Given the description of an element on the screen output the (x, y) to click on. 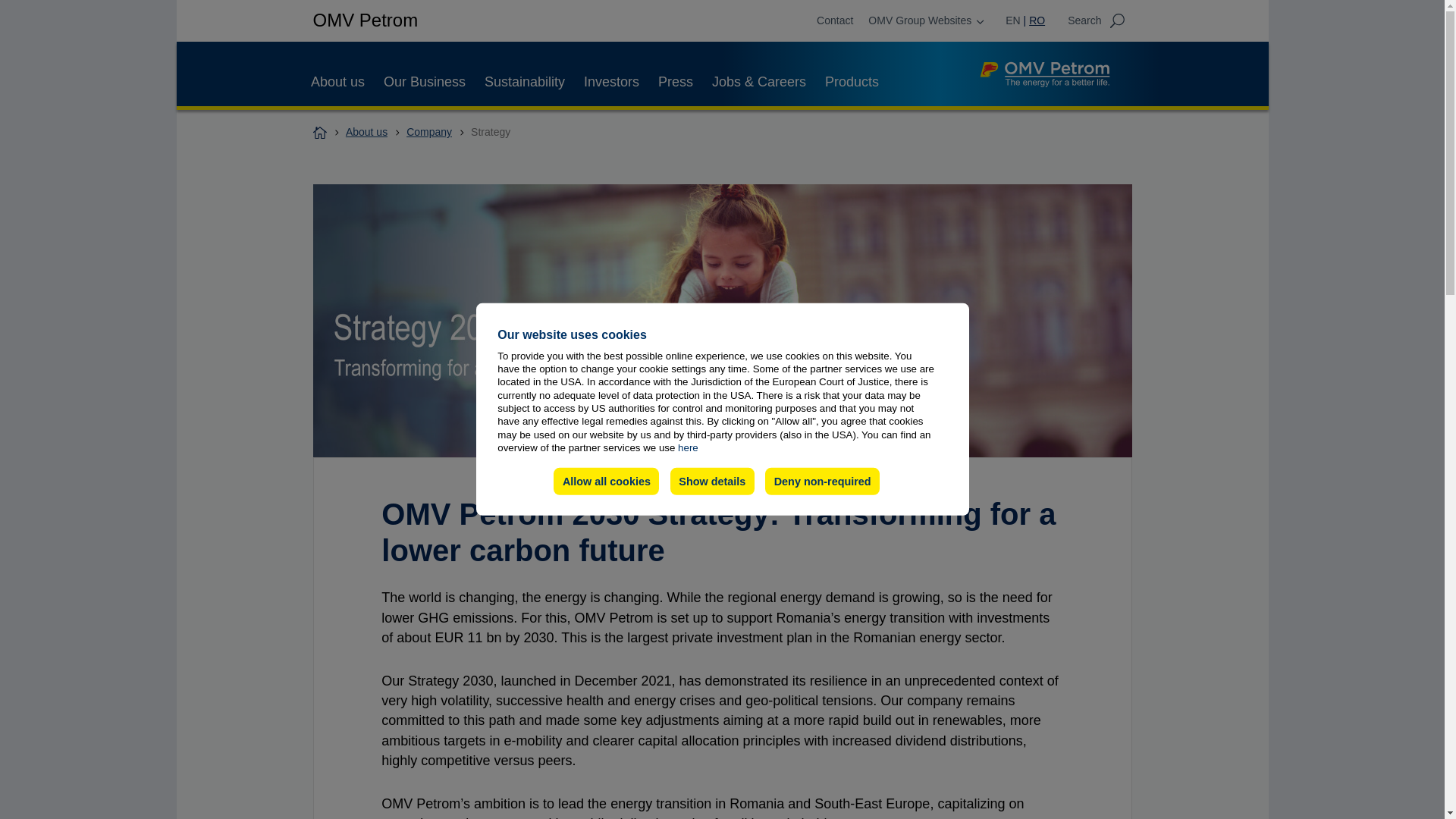
RO (1034, 20)
Deny non-required (822, 481)
here (688, 447)
here (688, 447)
Show details (711, 481)
OMV Petrom (365, 20)
Allow all cookies (606, 481)
Contact (834, 20)
About us (338, 82)
